Given the description of an element on the screen output the (x, y) to click on. 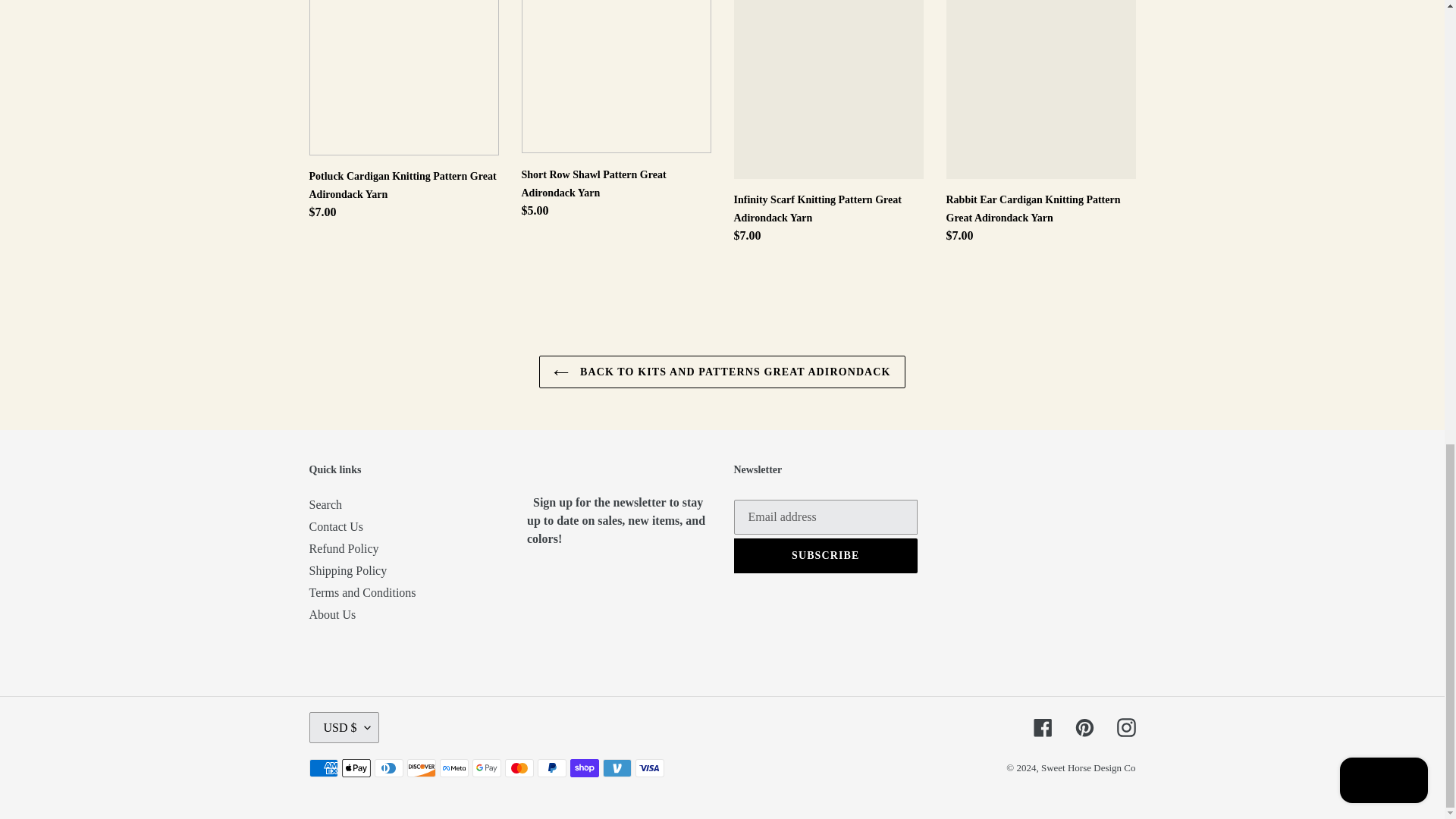
BACK TO KITS AND PATTERNS GREAT ADIRONDACK (721, 371)
Contact Us (336, 526)
Terms and Conditions (362, 592)
Shipping Policy (347, 570)
Refund Policy (343, 548)
SUBSCRIBE (825, 555)
Search (325, 504)
About Us (332, 614)
